Given the description of an element on the screen output the (x, y) to click on. 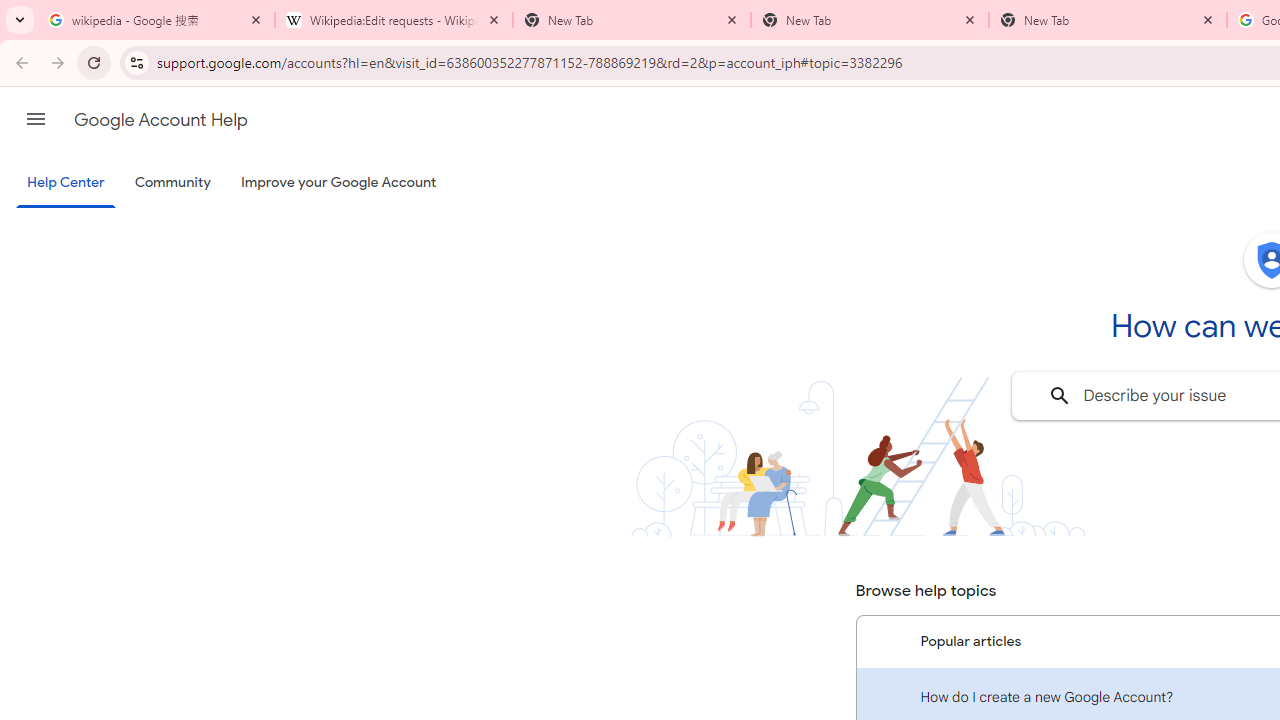
Help Center (65, 183)
Improve your Google Account (339, 183)
New Tab (1108, 20)
